Given the description of an element on the screen output the (x, y) to click on. 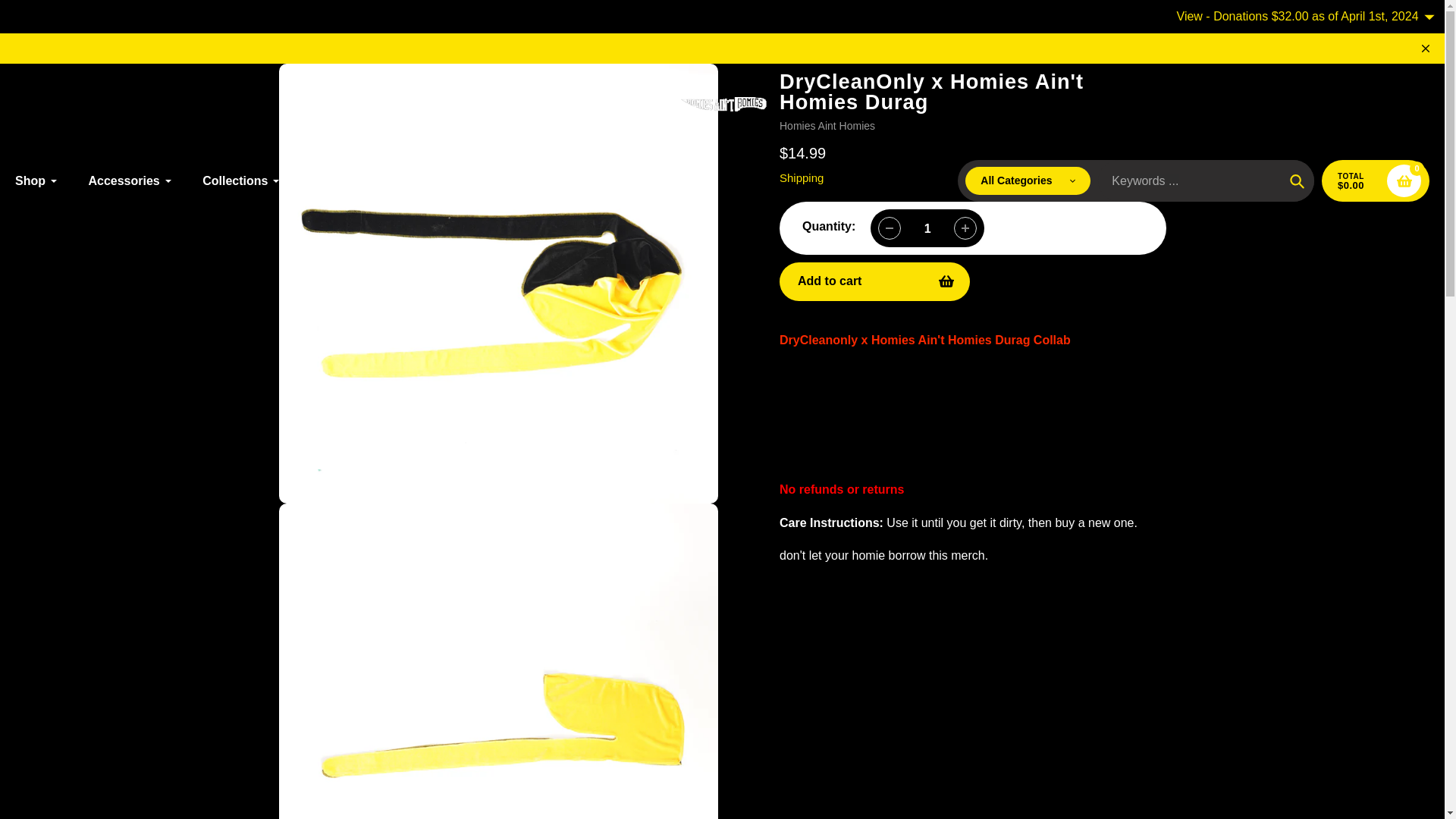
My Account (1276, 104)
Homies Aint Homies (826, 125)
1 (927, 228)
